Given the description of an element on the screen output the (x, y) to click on. 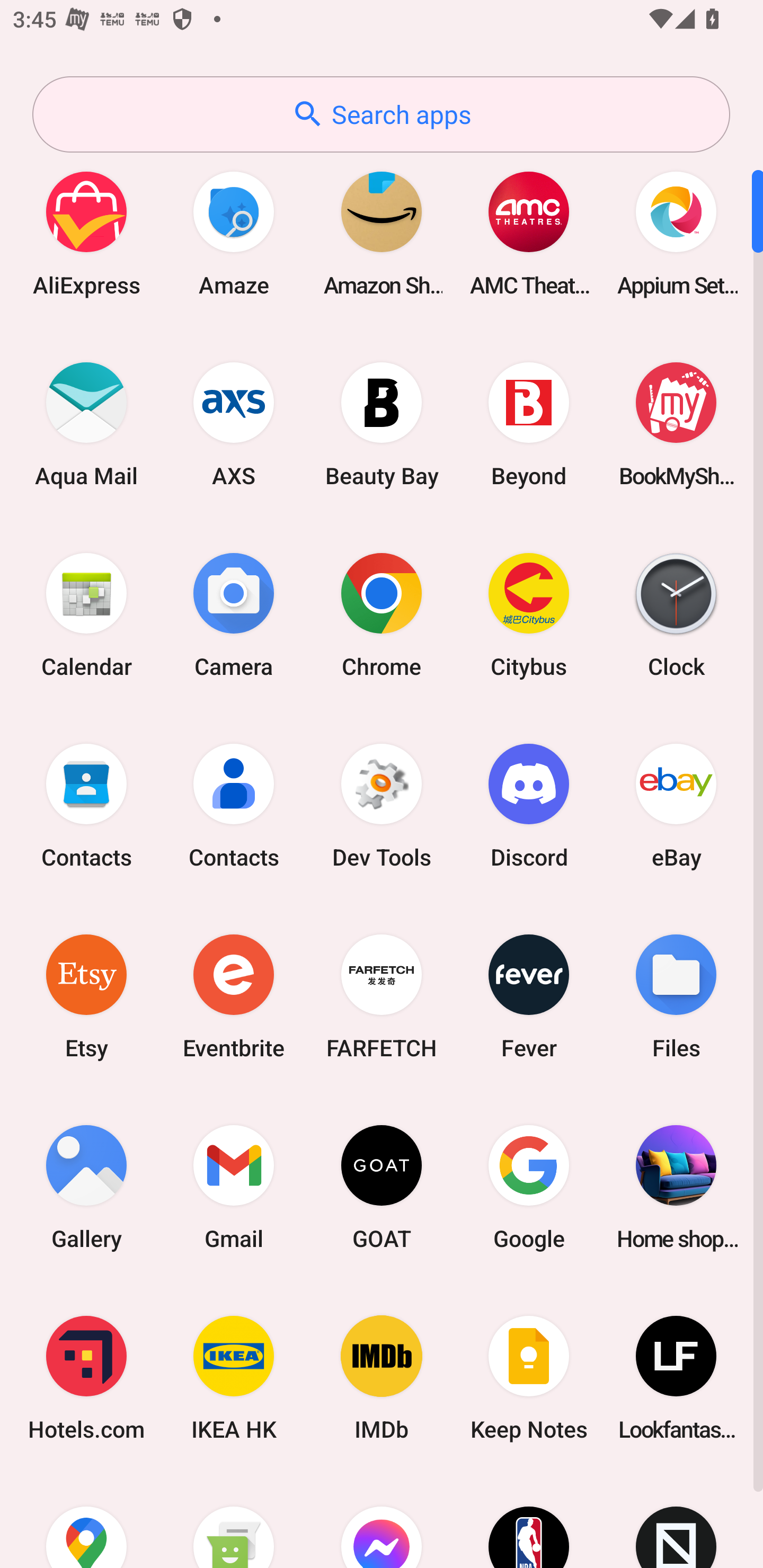
  Search apps (381, 114)
AliExpress (86, 233)
Amaze (233, 233)
Amazon Shopping (381, 233)
AMC Theatres (528, 233)
Appium Settings (676, 233)
Aqua Mail (86, 424)
AXS (233, 424)
Beauty Bay (381, 424)
Beyond (528, 424)
BookMyShow (676, 424)
Calendar (86, 614)
Camera (233, 614)
Chrome (381, 614)
Citybus (528, 614)
Clock (676, 614)
Contacts (86, 805)
Contacts (233, 805)
Dev Tools (381, 805)
Discord (528, 805)
eBay (676, 805)
Etsy (86, 996)
Eventbrite (233, 996)
FARFETCH (381, 996)
Fever (528, 996)
Files (676, 996)
Gallery (86, 1186)
Gmail (233, 1186)
GOAT (381, 1186)
Google (528, 1186)
Home shopping (676, 1186)
Hotels.com (86, 1377)
IKEA HK (233, 1377)
IMDb (381, 1377)
Keep Notes (528, 1377)
Lookfantastic (676, 1377)
